Given the description of an element on the screen output the (x, y) to click on. 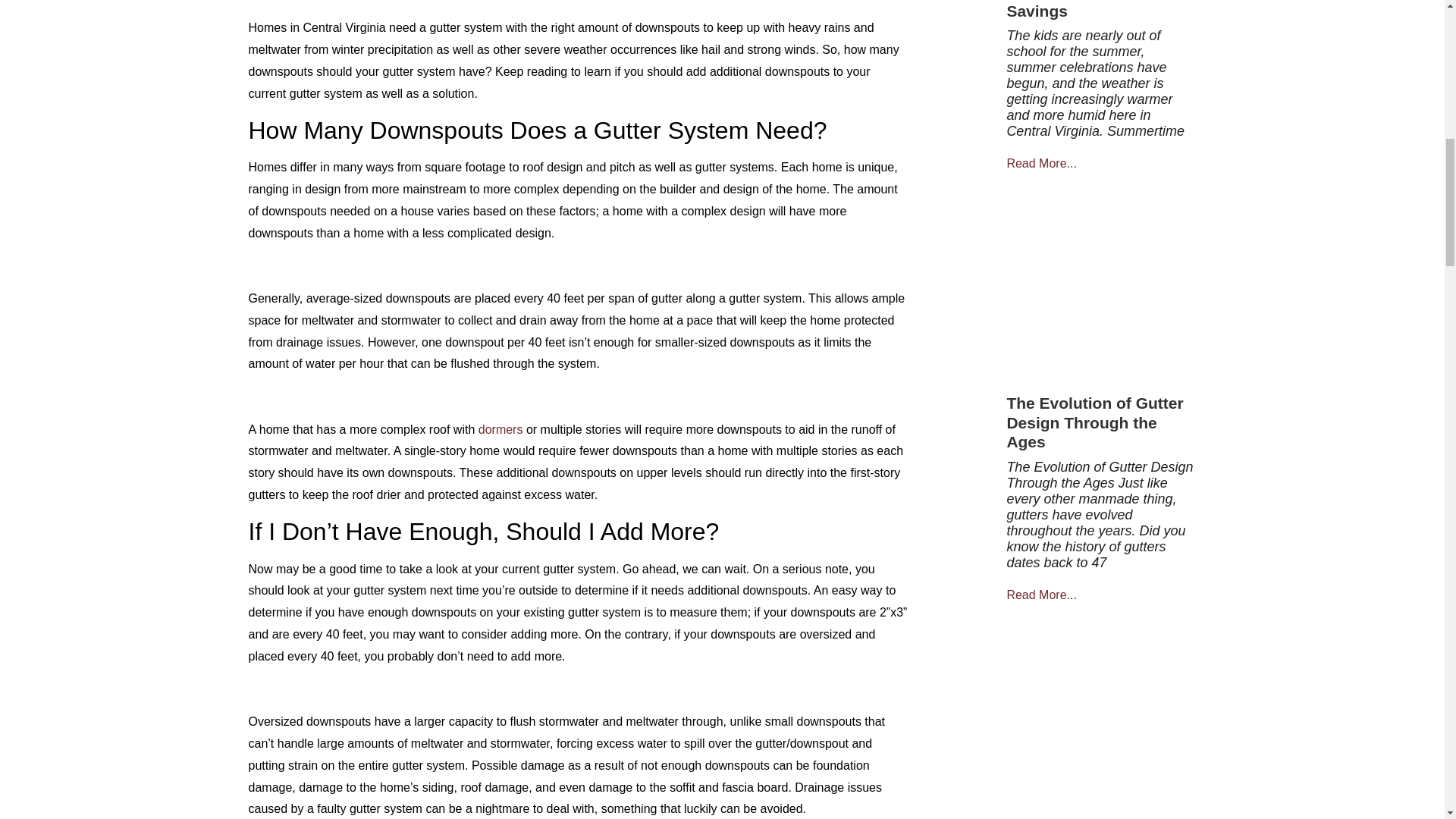
Read More... (1040, 163)
The Evolution of Gutter Design Through the Ages (1094, 421)
dormers (500, 429)
